Given the description of an element on the screen output the (x, y) to click on. 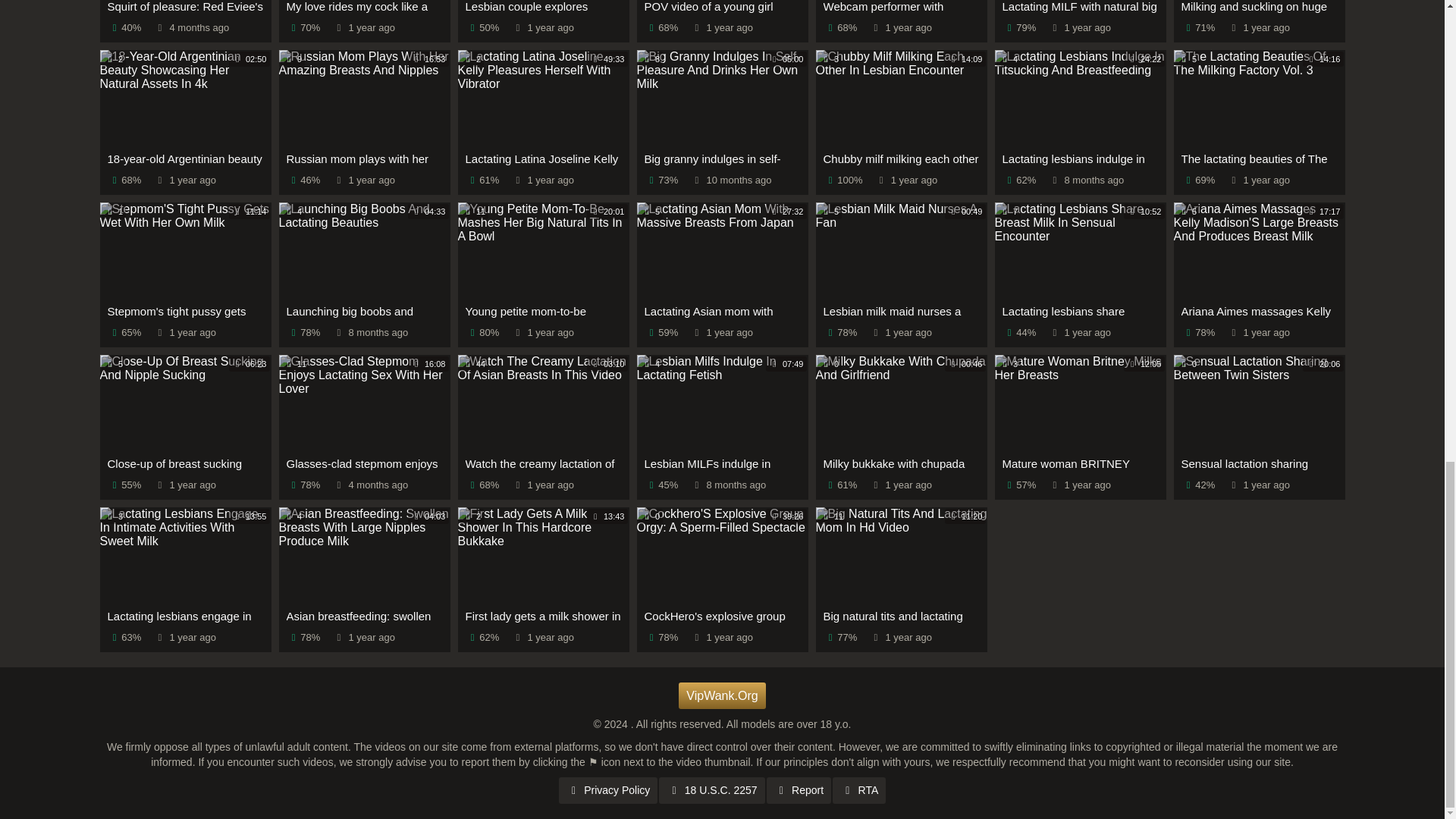
2257 (711, 790)
RTA (858, 790)
Privacy Policy (608, 790)
Content Report (799, 790)
